Given the description of an element on the screen output the (x, y) to click on. 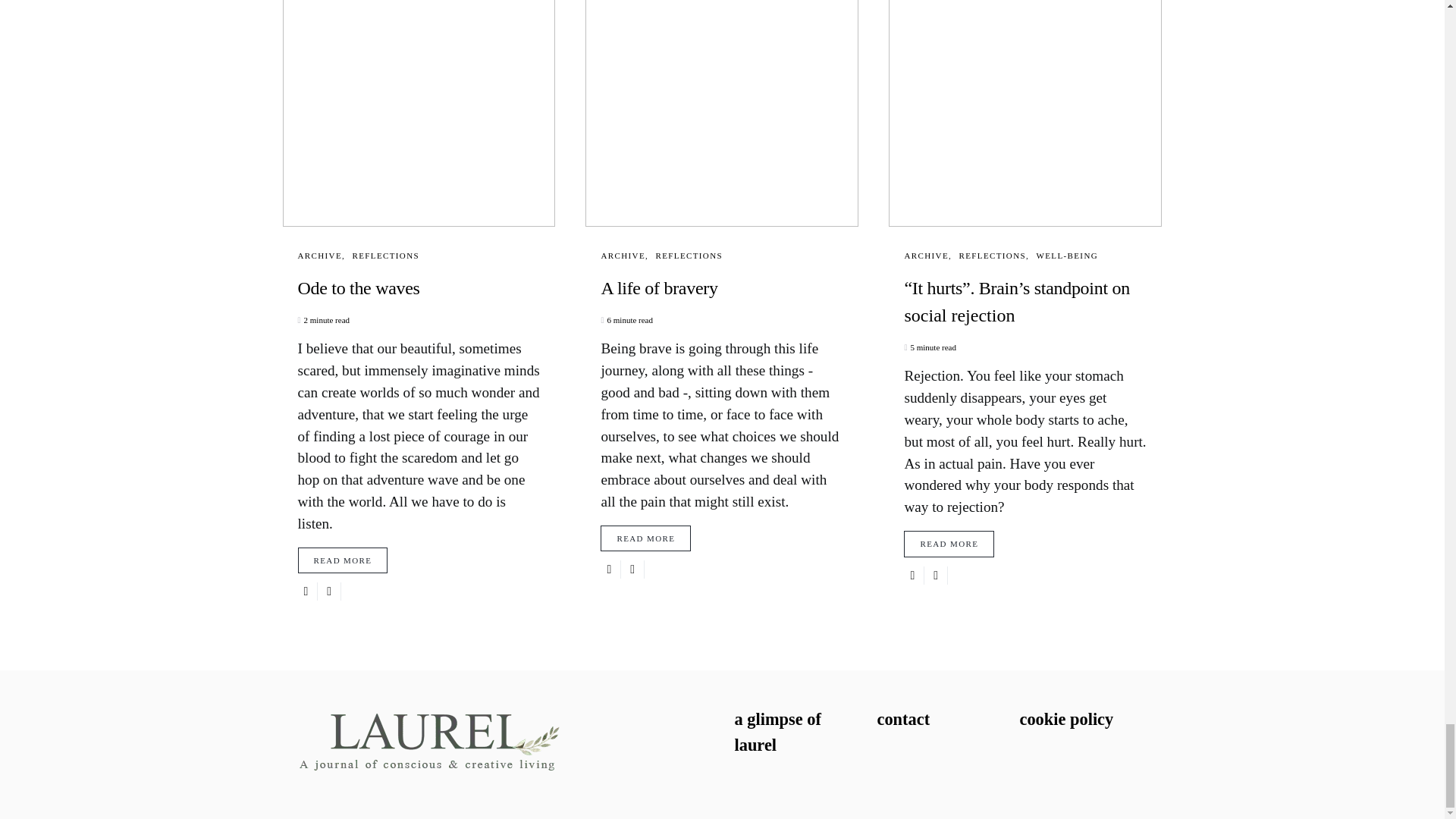
Ode to the waves (418, 288)
A life of bravery (721, 288)
